Given the description of an element on the screen output the (x, y) to click on. 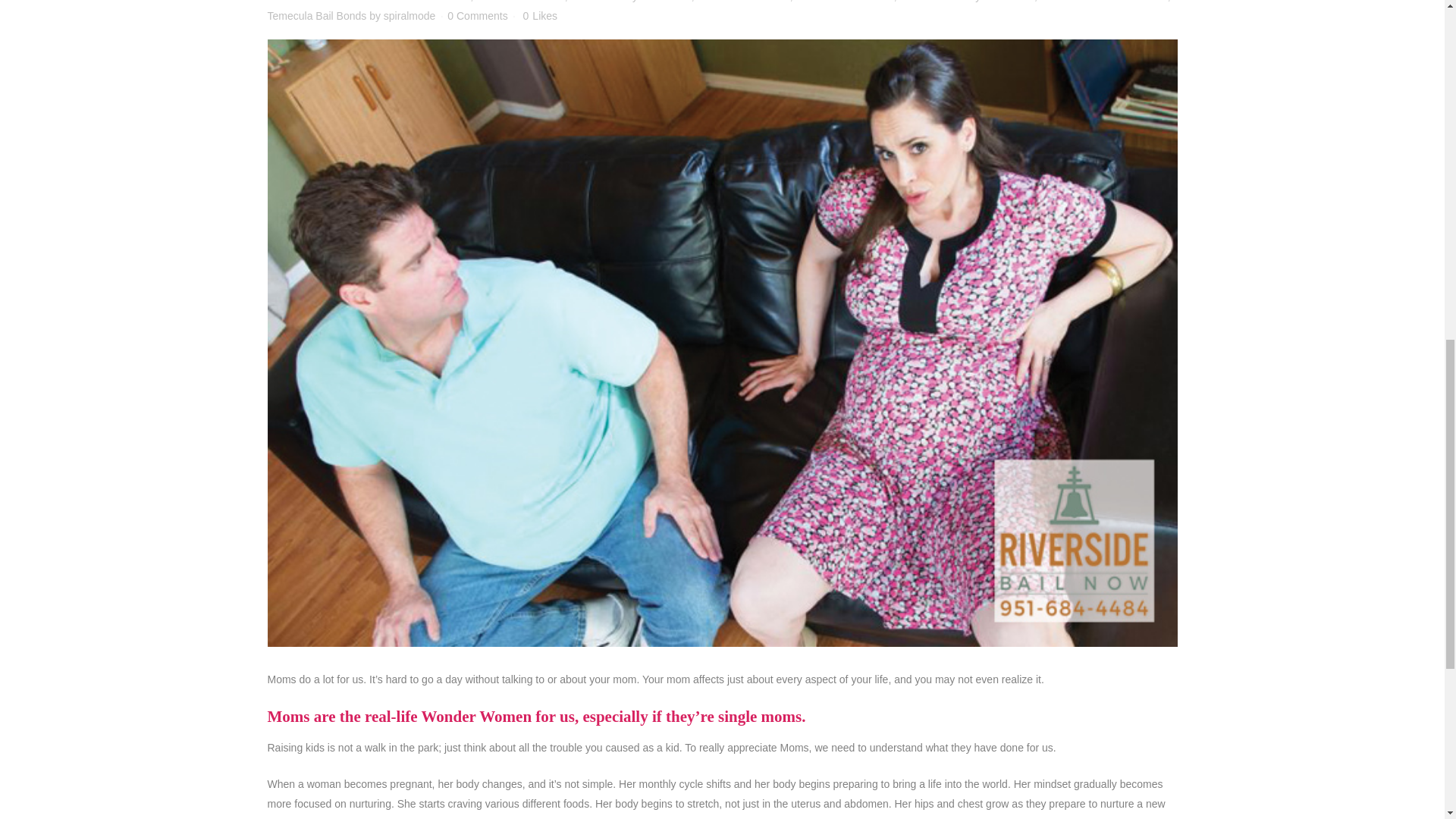
San Bernardino Bail Bonds (1104, 1)
spiralmode (409, 15)
0 Likes (539, 15)
Murrieta Bail Bonds (743, 1)
Temecula Bail Bonds (316, 15)
Corona Bail Bonds (520, 1)
Riverside County Bail Bonds (966, 1)
Bail Bonds News Store (415, 1)
Moreno Valley Bail Bonds (630, 1)
Like this (539, 15)
